Given the description of an element on the screen output the (x, y) to click on. 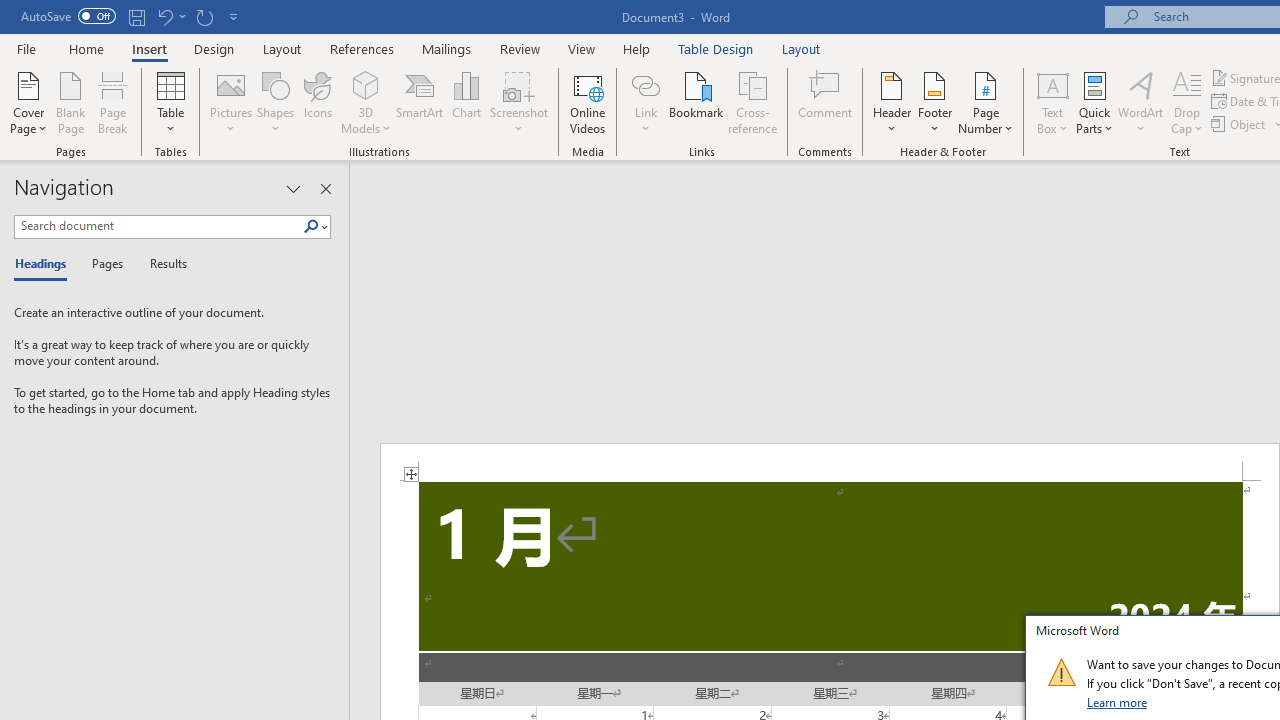
Headings (45, 264)
Drop Cap (1187, 102)
Cover Page (28, 102)
Cross-reference... (752, 102)
Pictures (230, 102)
3D Models (366, 84)
Text Box (1052, 102)
Quick Parts (1094, 102)
